Given the description of an element on the screen output the (x, y) to click on. 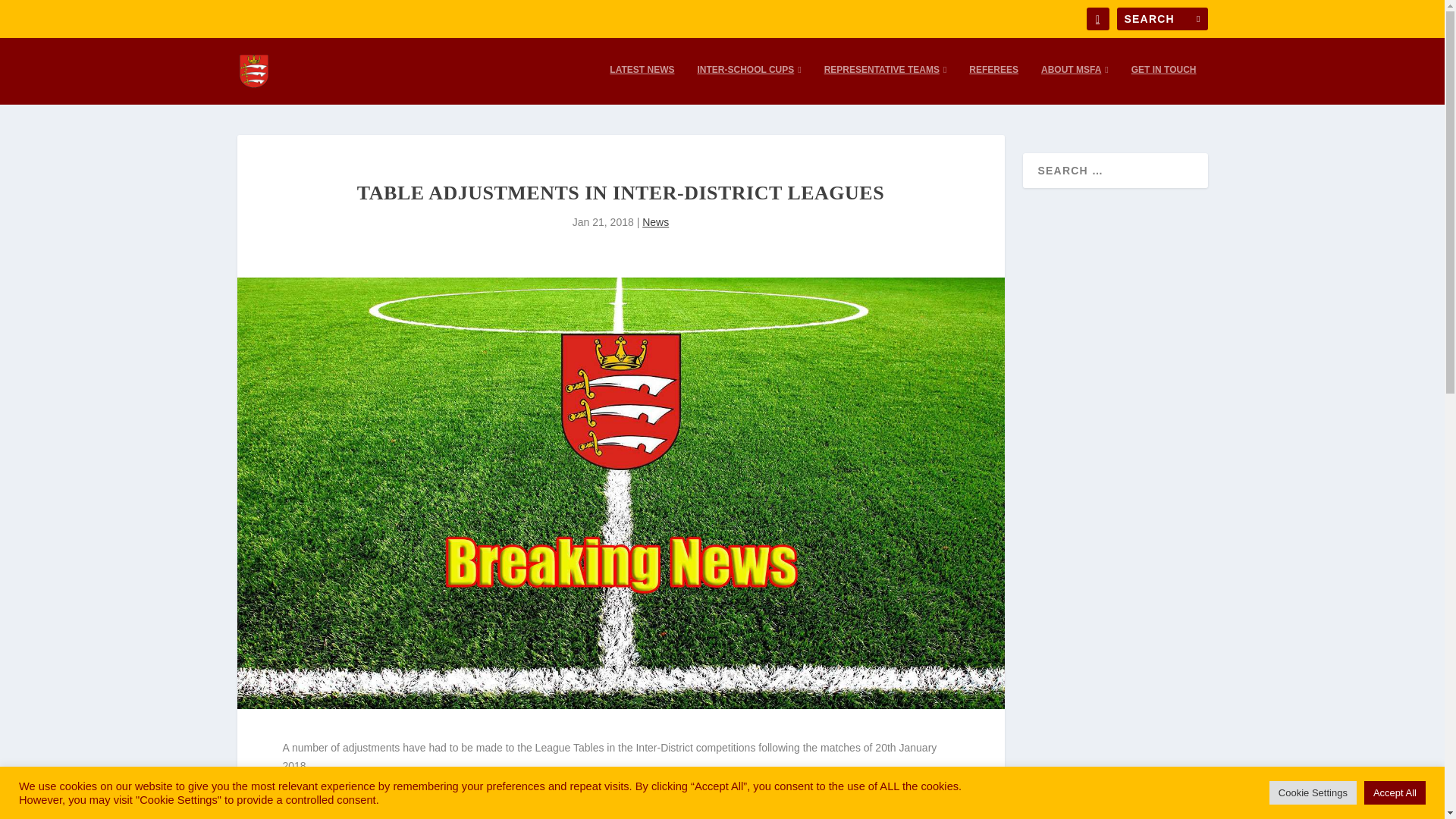
ABOUT MSFA (1074, 83)
News (655, 222)
Search for: (1161, 18)
INTER-SCHOOL CUPS (748, 83)
LATEST NEWS (642, 83)
GET IN TOUCH (1163, 83)
REPRESENTATIVE TEAMS (885, 83)
REFEREES (993, 83)
